Given the description of an element on the screen output the (x, y) to click on. 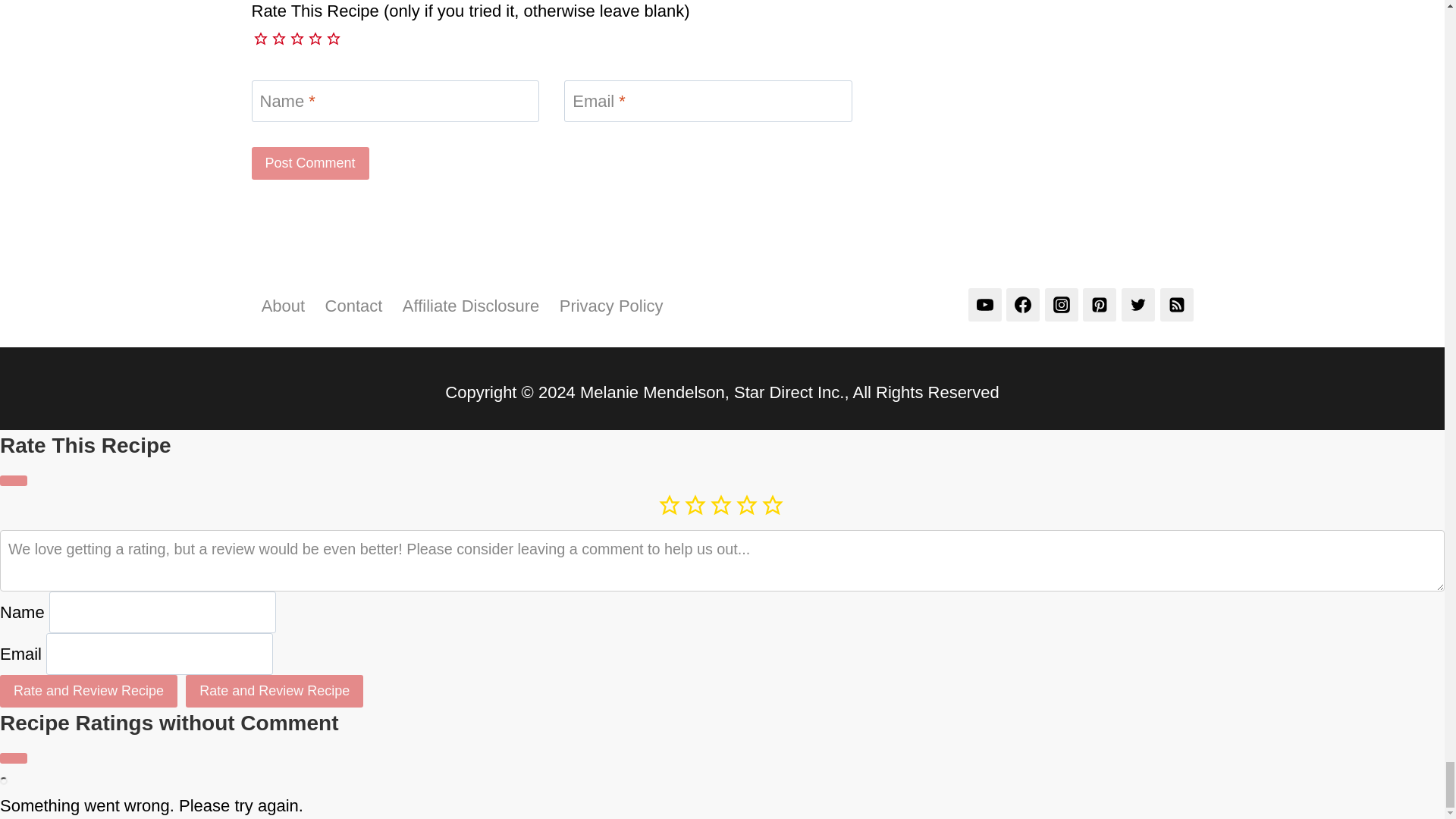
Post Comment (310, 162)
